Given the description of an element on the screen output the (x, y) to click on. 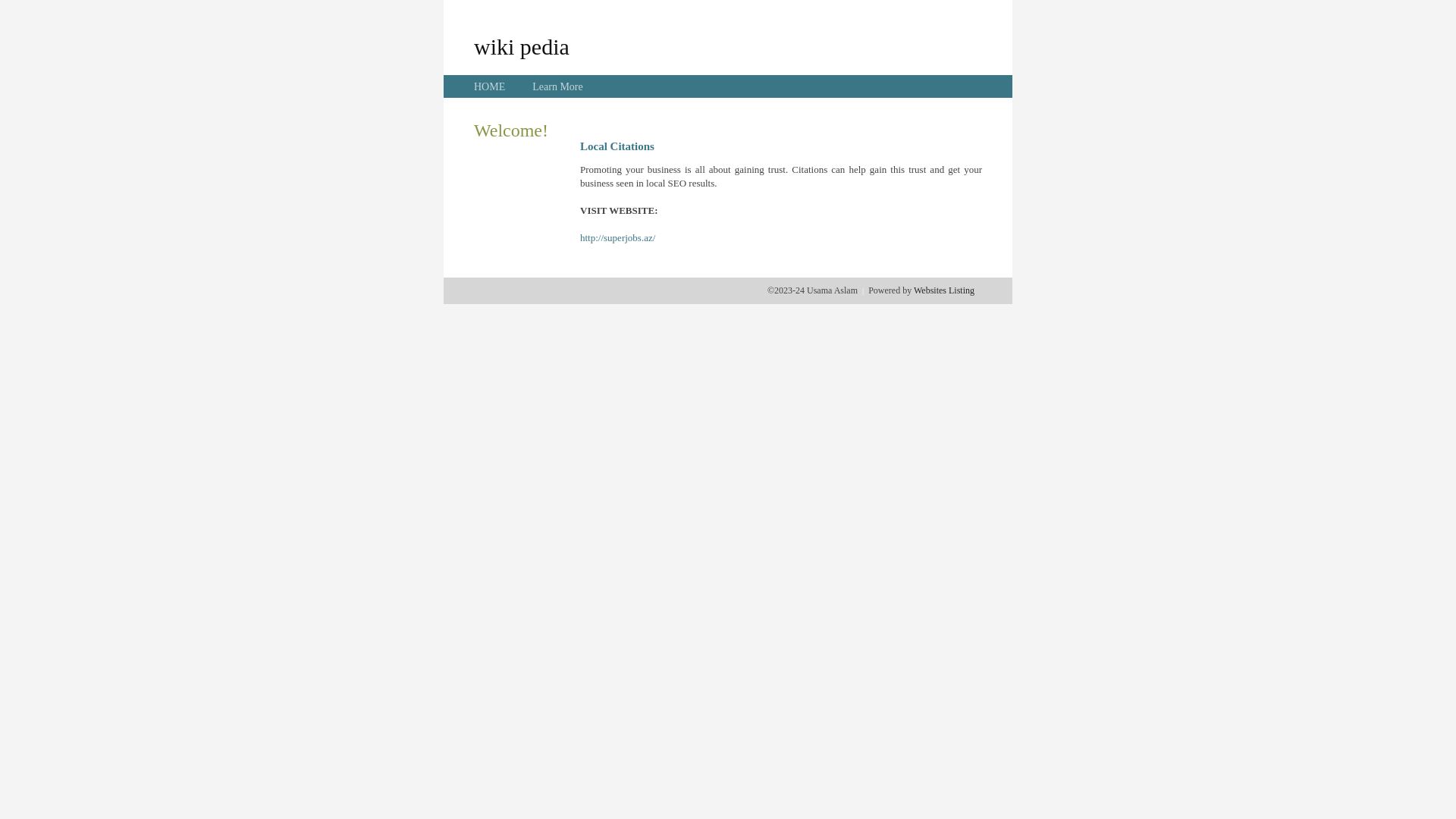
Websites Listing Element type: text (943, 290)
wiki pedia Element type: text (521, 46)
Learn More Element type: text (557, 86)
HOME Element type: text (489, 86)
http://superjobs.az/ Element type: text (617, 237)
